Given the description of an element on the screen output the (x, y) to click on. 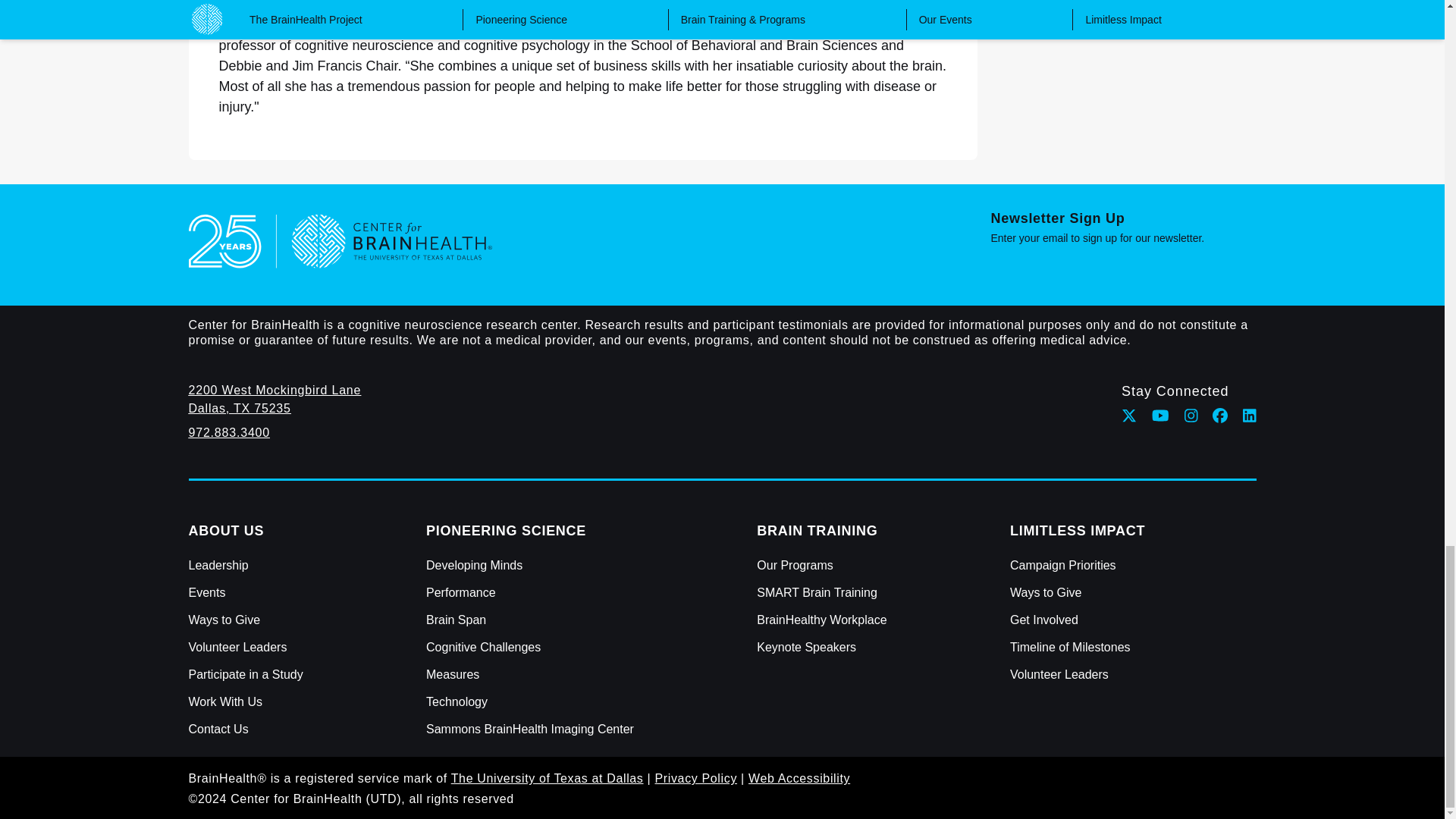
Follow Center for BrainHealth on instagram (1191, 415)
iframe (1122, 270)
Follow Center for BrainHealth on twitter (1129, 415)
Follow Center for BrainHealth on youtube (1160, 415)
Follow Center for BrainHealth on linkedin (1249, 415)
Follow Center for BrainHealth on facebook (1219, 415)
